Given the description of an element on the screen output the (x, y) to click on. 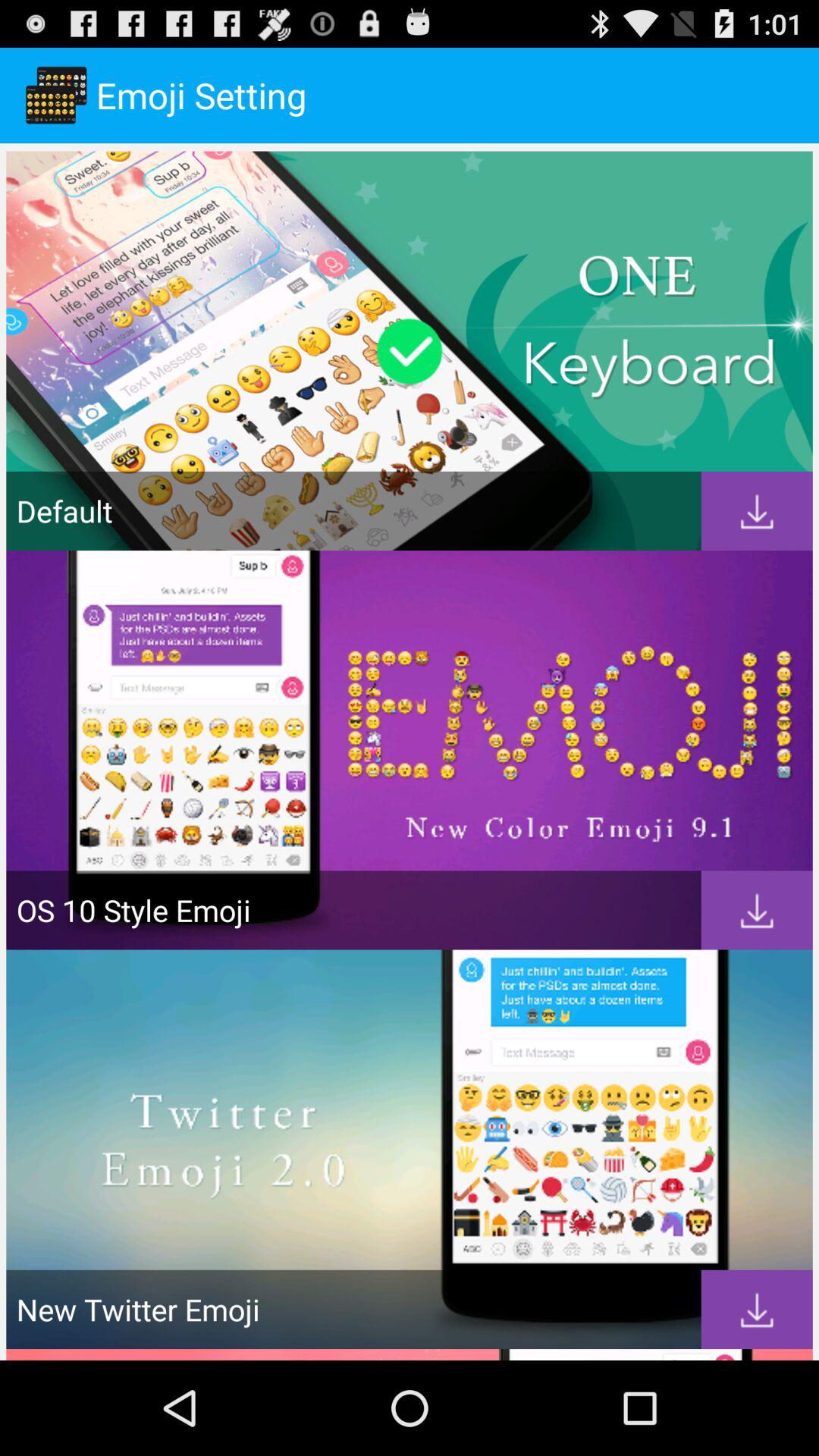
download (756, 511)
